Given the description of an element on the screen output the (x, y) to click on. 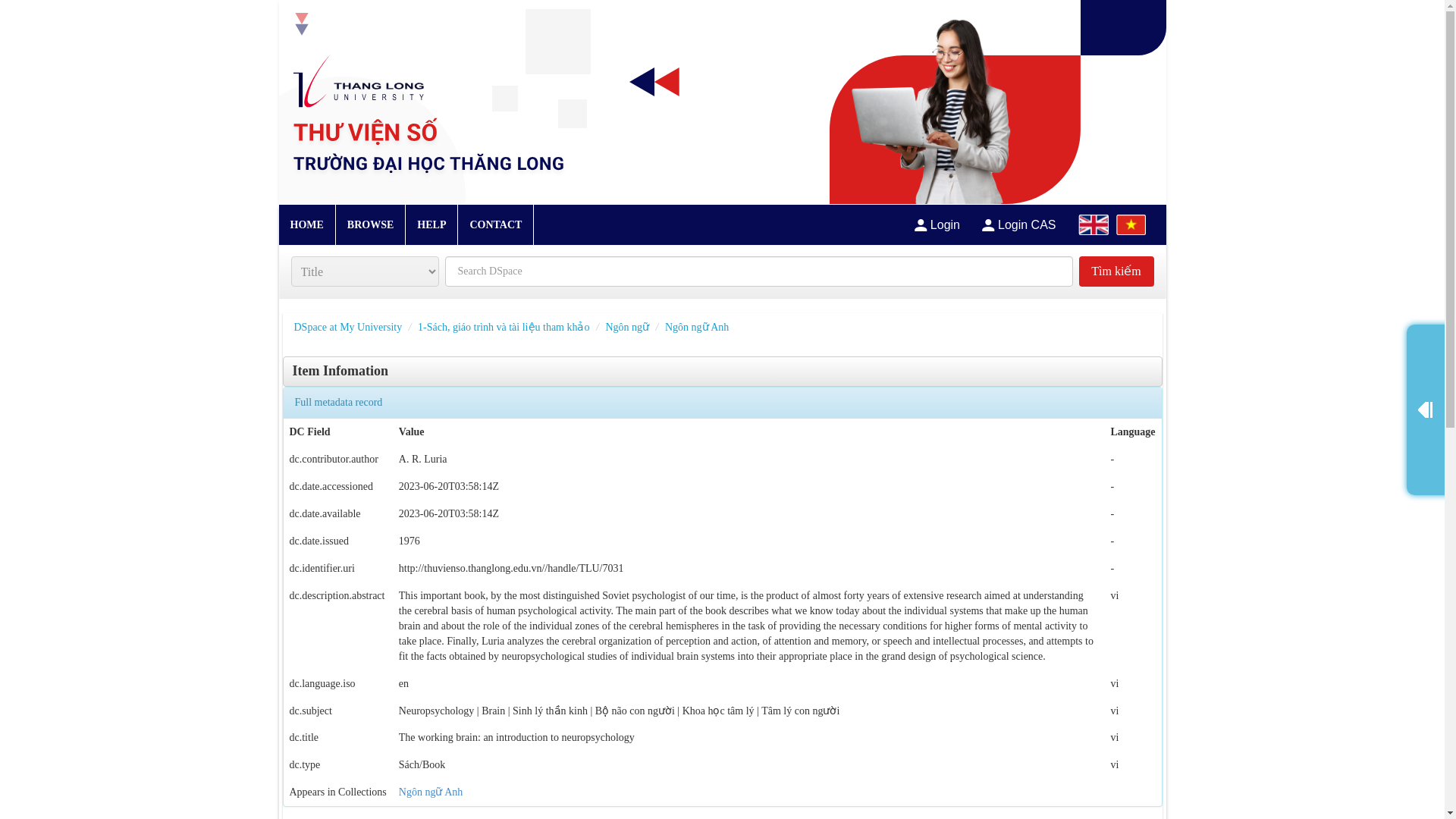
CONTACT (494, 224)
HELP (430, 224)
BROWSE (370, 224)
Login CAS (1019, 224)
HOME (306, 224)
Login (936, 224)
